Given the description of an element on the screen output the (x, y) to click on. 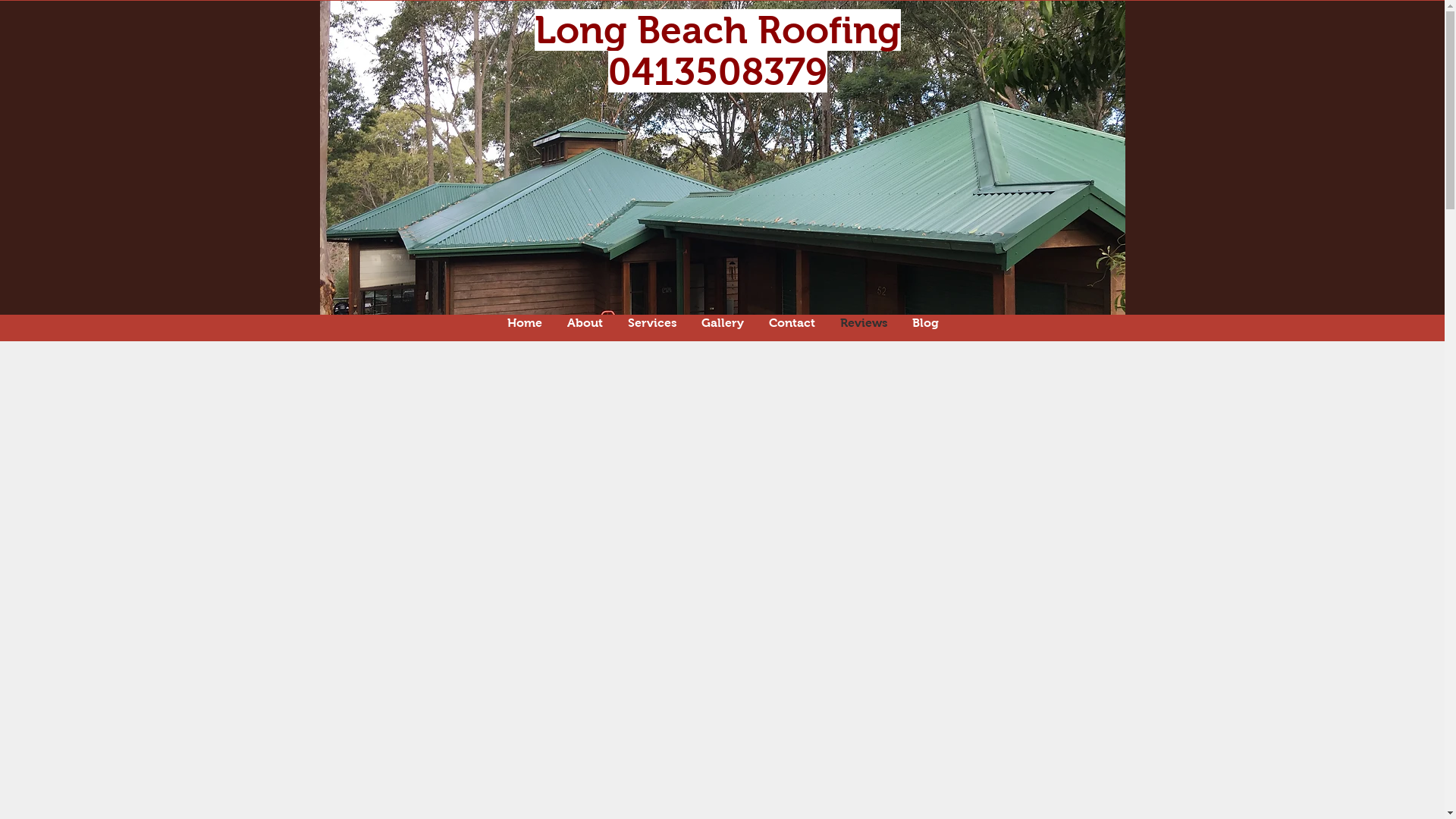
Reviews Element type: text (864, 322)
Blog Element type: text (924, 322)
Gallery Element type: text (722, 322)
About Element type: text (585, 322)
Contact Element type: text (792, 322)
Home Element type: text (524, 322)
Services Element type: text (652, 322)
